Given the description of an element on the screen output the (x, y) to click on. 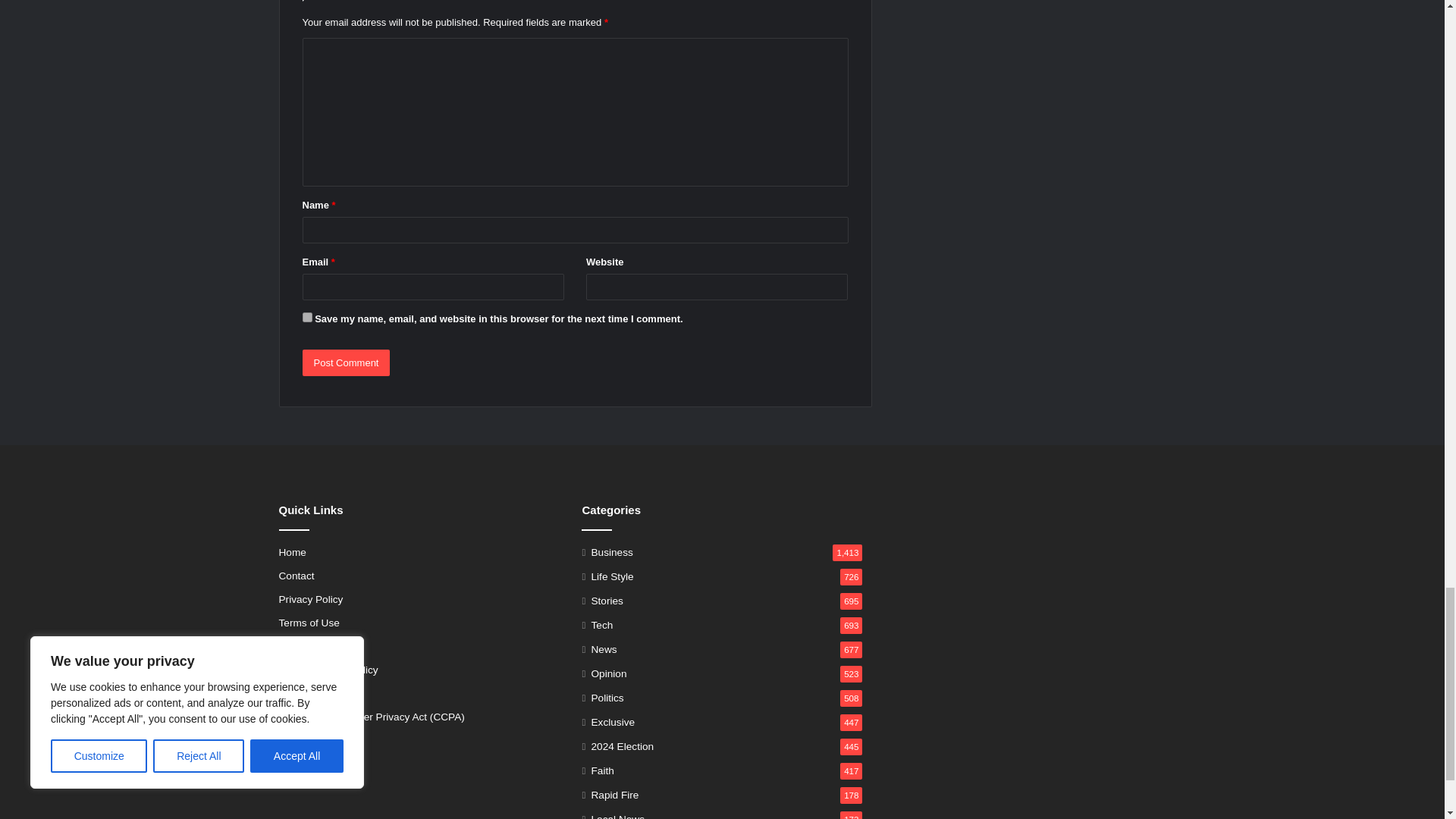
Post Comment (345, 362)
yes (306, 317)
